Given the description of an element on the screen output the (x, y) to click on. 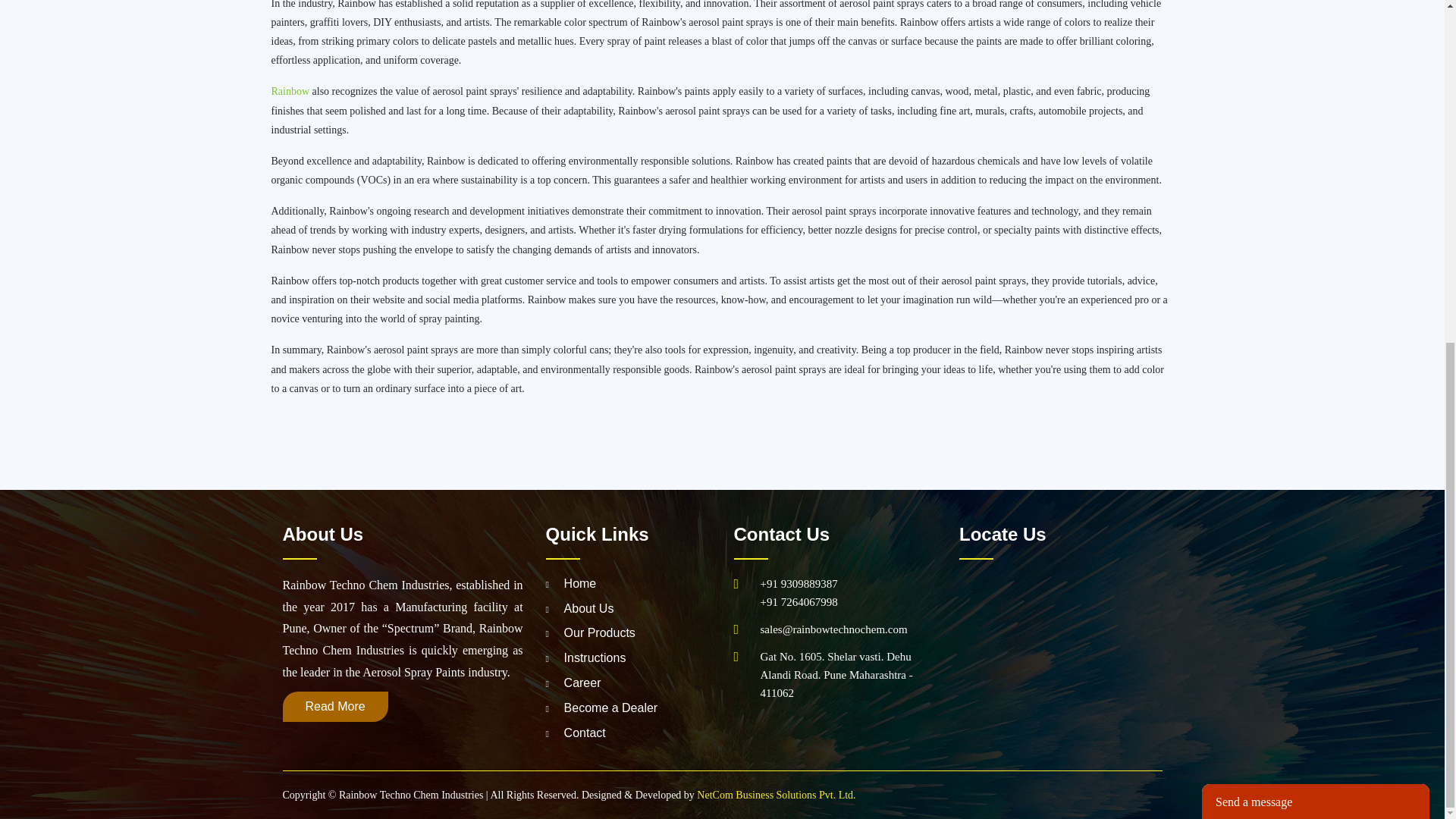
Home (571, 583)
Read More (334, 706)
Rainbow (291, 91)
Send Message (1251, 495)
